Given the description of an element on the screen output the (x, y) to click on. 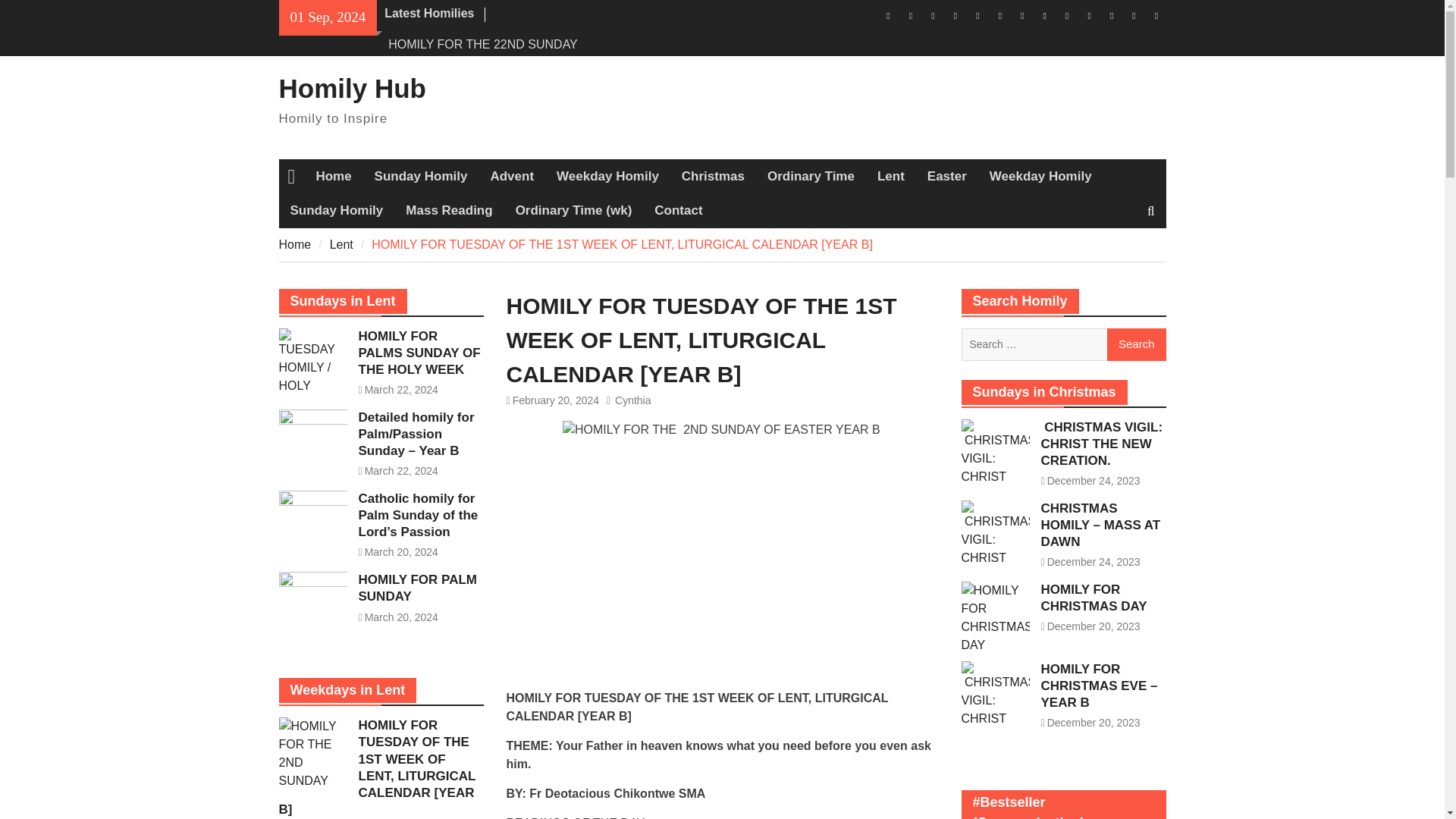
Easter (946, 176)
Lent (341, 244)
Advent (511, 176)
Weekday Homily (1040, 176)
Mass Reading (448, 210)
Sunday Homily (420, 176)
Homily Hub (352, 88)
Contact (678, 210)
Search (1136, 344)
Home (295, 244)
